Given the description of an element on the screen output the (x, y) to click on. 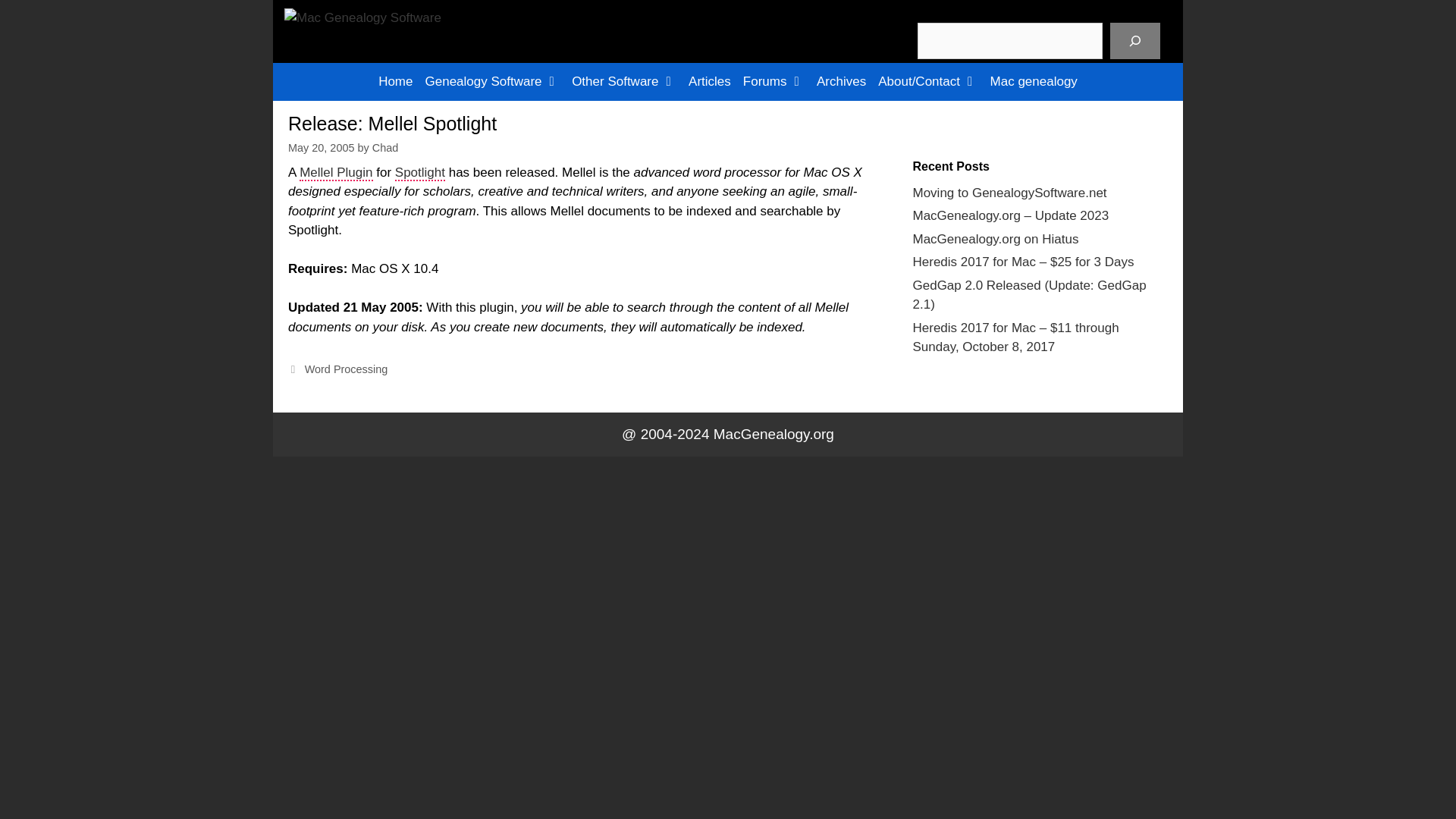
Forums (773, 80)
Home (395, 80)
Articles (709, 80)
Archives (841, 80)
Genealogy Software (492, 80)
Other Software (624, 80)
